Given the description of an element on the screen output the (x, y) to click on. 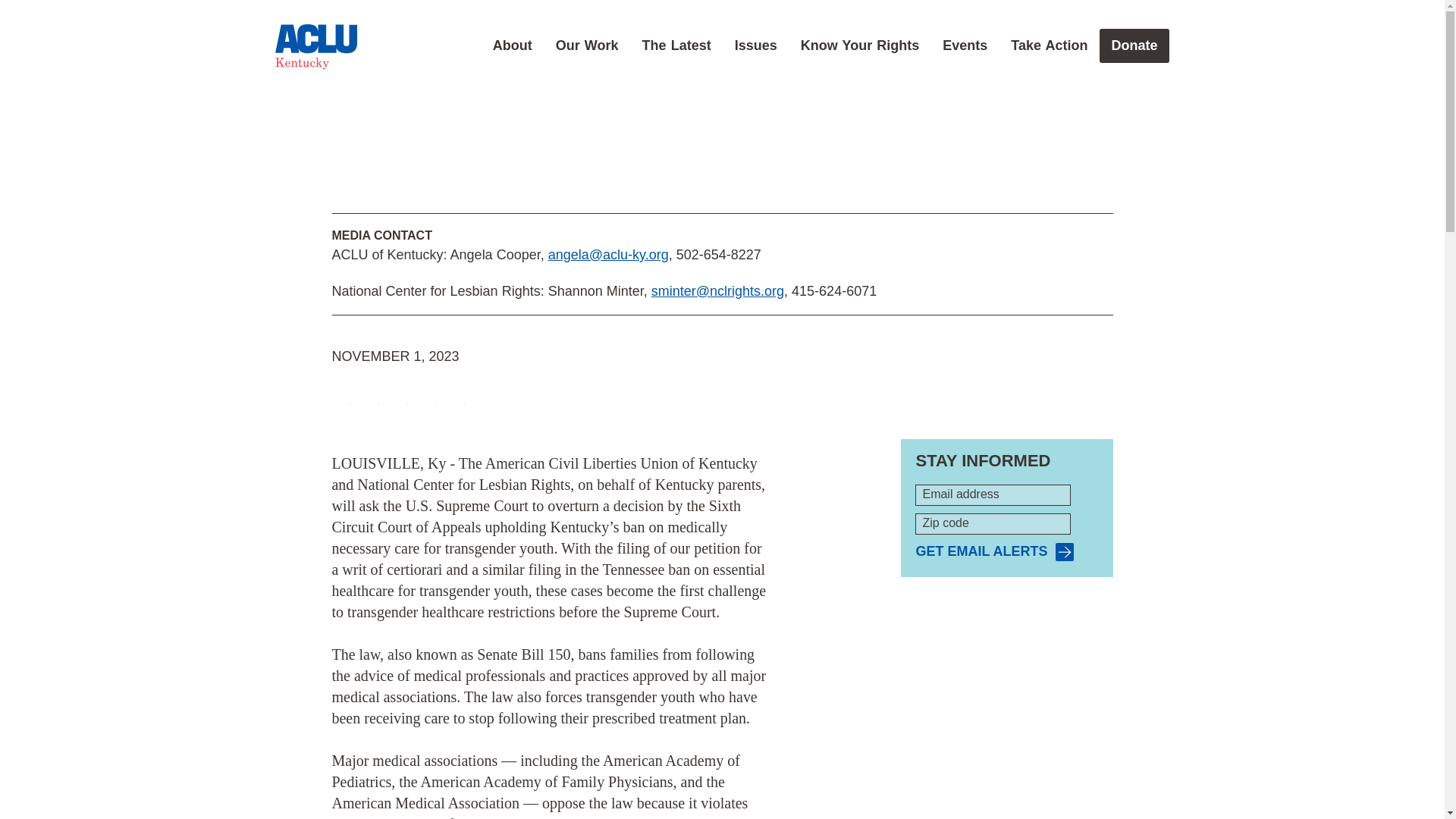
Submit this to Reddit (398, 396)
ACLU of Kentucky - logo (315, 46)
Twitter (369, 396)
Reddit (398, 396)
Email (427, 396)
Events (964, 45)
Get email alerts (994, 551)
Submit this to Twitter (369, 396)
Submit this to Facebook (340, 396)
Email this page (427, 396)
Donate (1134, 45)
Take Action (1048, 45)
Email address (992, 495)
Zip code (992, 523)
